Given the description of an element on the screen output the (x, y) to click on. 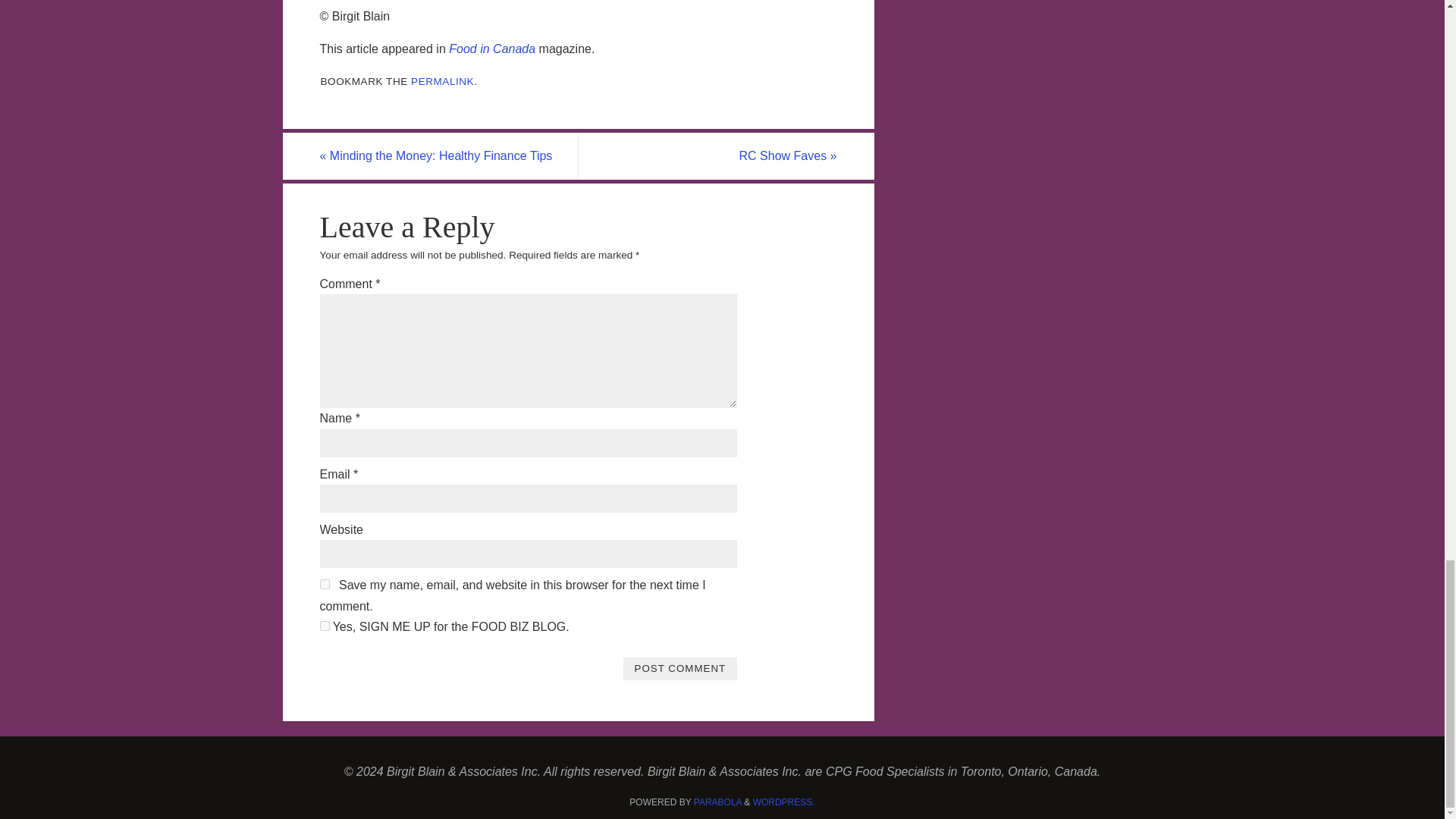
yes (325, 583)
Parabola Theme by Cryout Creations (717, 801)
PARABOLA (717, 801)
Food in Canada (491, 48)
WORDPRESS. (783, 801)
Permalink to Beware of Overpromising (442, 81)
1 (325, 625)
Post Comment (679, 667)
PERMALINK (442, 81)
Post Comment (679, 667)
